Given the description of an element on the screen output the (x, y) to click on. 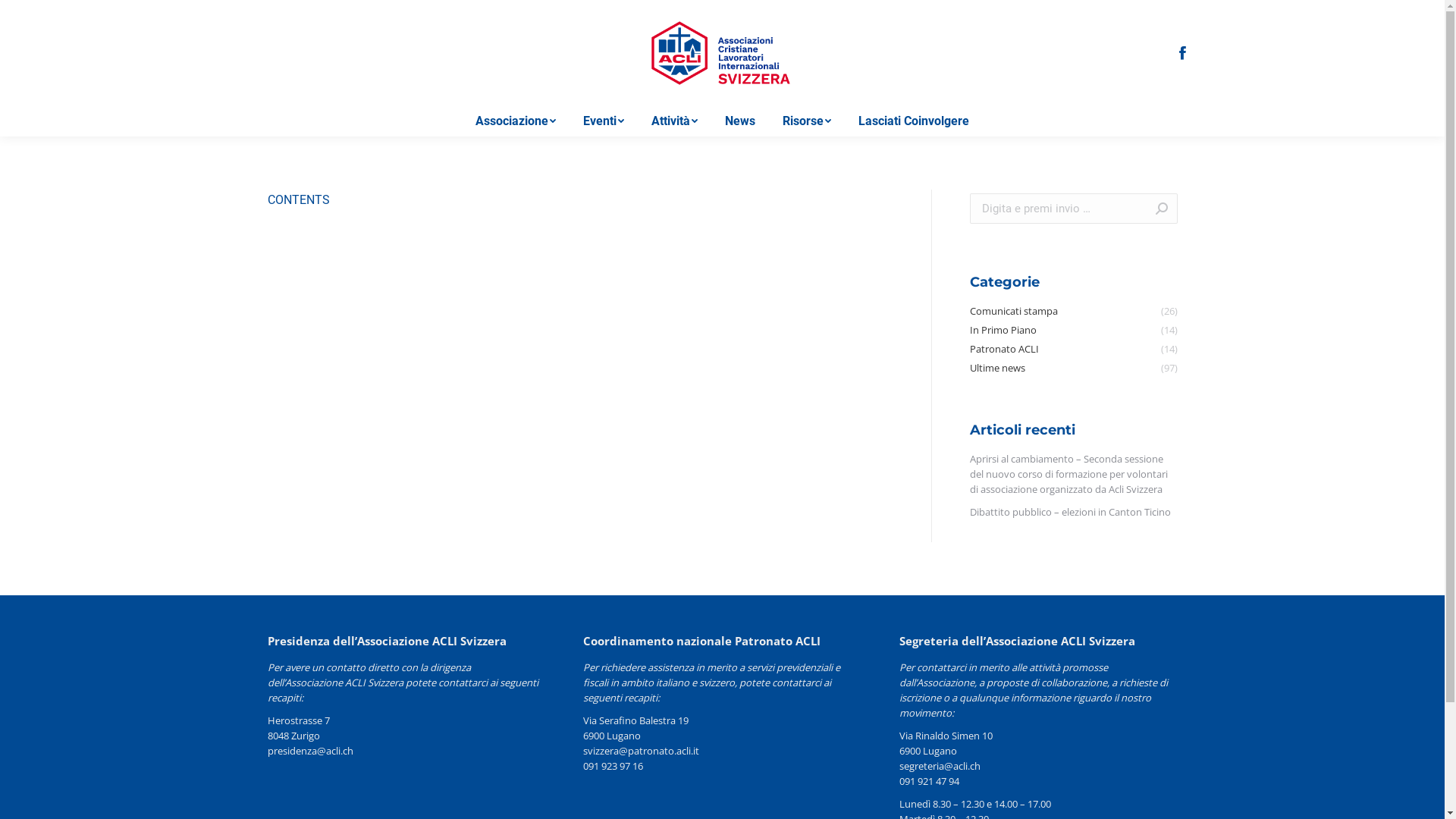
Eventi Element type: text (603, 120)
Lasciati Coinvolgere Element type: text (913, 120)
091 921 47 94 Element type: text (929, 780)
presidenza@acli.ch Element type: text (309, 750)
Associazione Element type: text (515, 120)
091 923 97 16 Element type: text (613, 765)
News Element type: text (739, 120)
Risorse Element type: text (806, 120)
segreteria@acli.ch Element type: text (939, 765)
Vai! Element type: text (1154, 208)
Facebook page opens in new window Element type: text (1182, 52)
svizzera@patronato.acli.it Element type: text (641, 750)
